Given the description of an element on the screen output the (x, y) to click on. 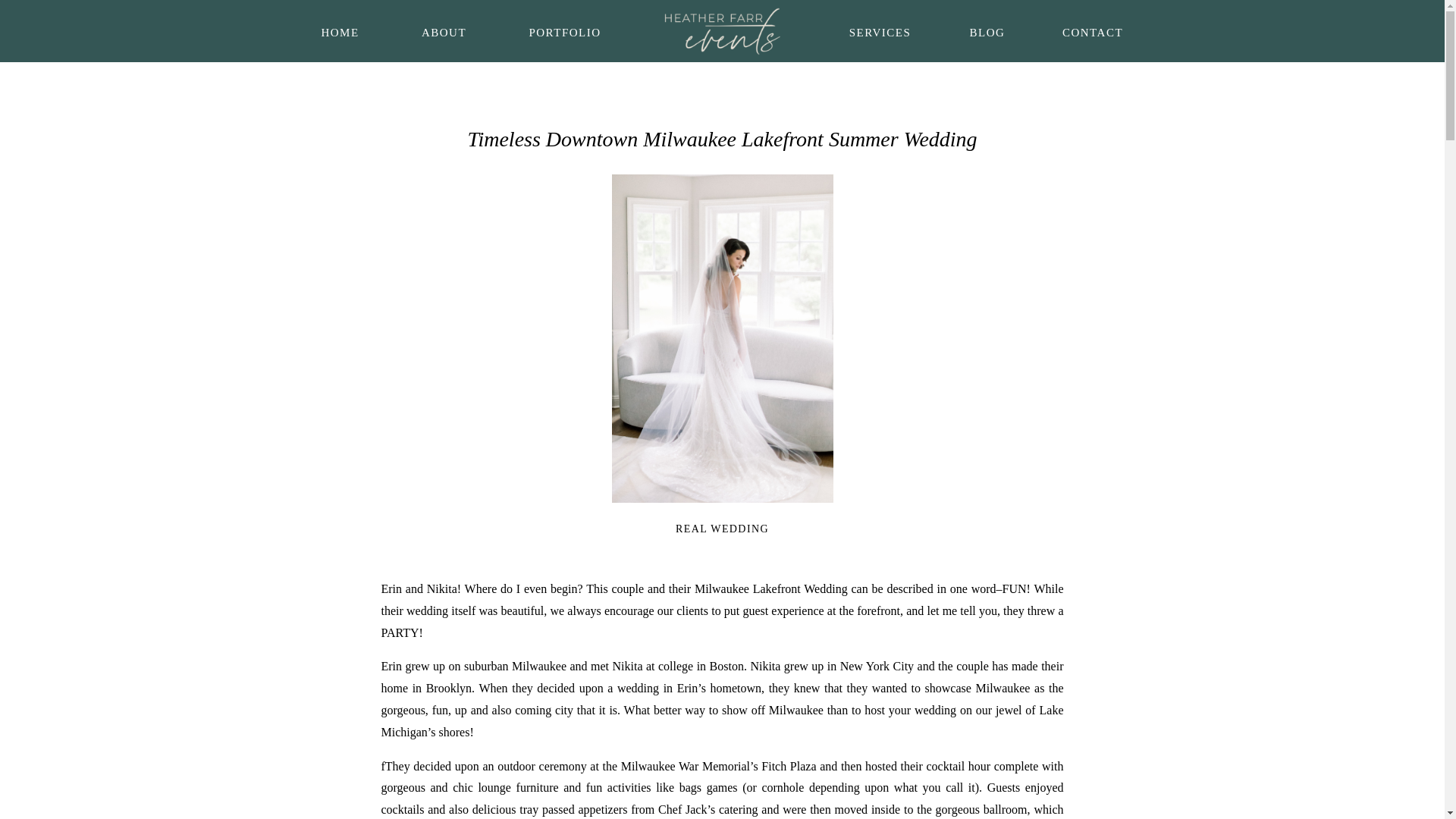
BLOG (986, 29)
ABOUT (444, 29)
SERVICES (879, 29)
PORTFOLIO (564, 29)
CONTACT (1092, 29)
HOME (339, 29)
REAL WEDDING (721, 528)
